Given the description of an element on the screen output the (x, y) to click on. 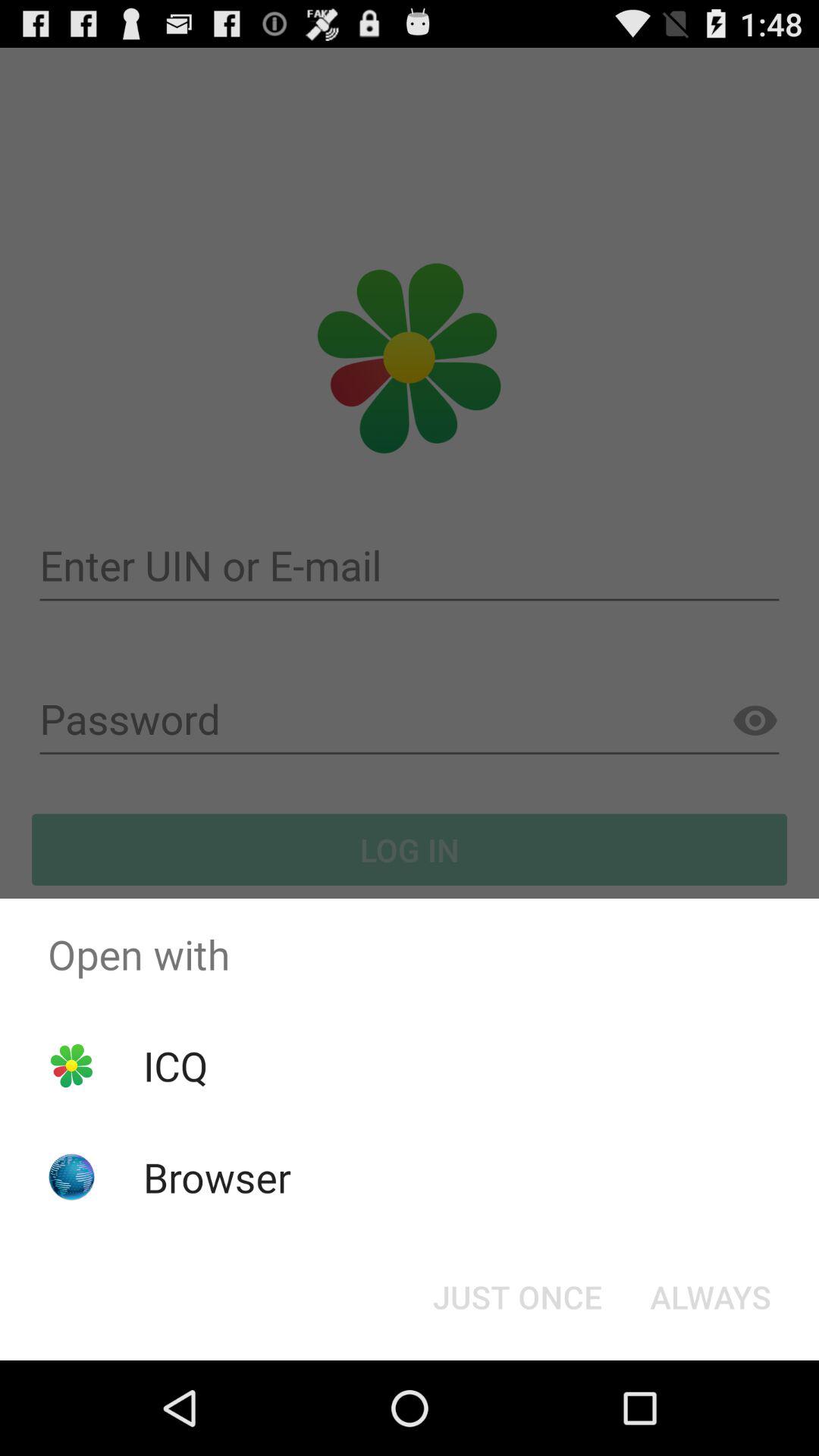
jump to the just once icon (517, 1296)
